Given the description of an element on the screen output the (x, y) to click on. 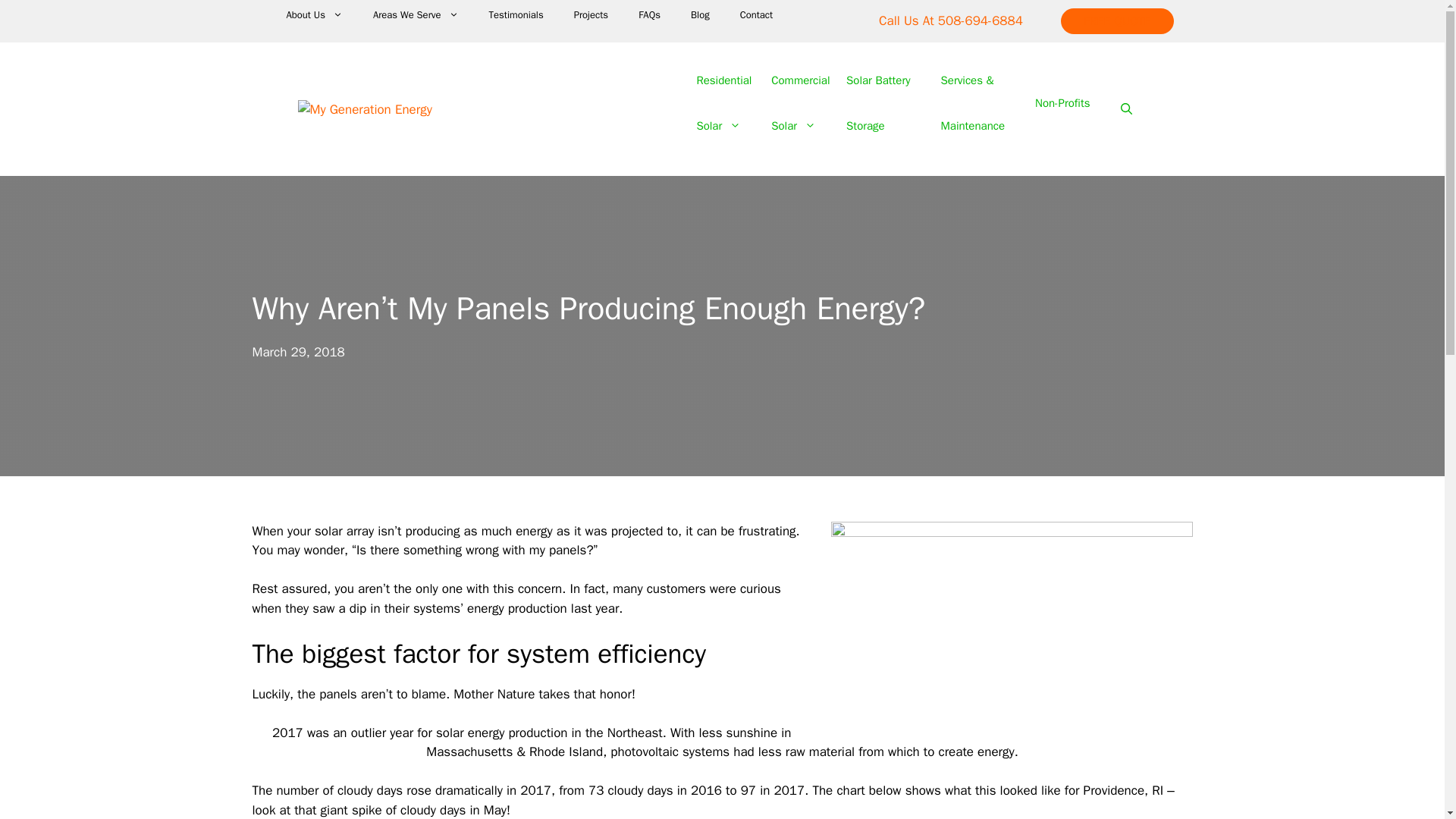
Blog (700, 15)
FAQs (649, 15)
Non-Profits (1062, 103)
Areas We Serve (416, 15)
Projects (591, 15)
508-694-6884 (980, 20)
About Us (877, 102)
FREE QUOTE (314, 15)
Contact (1117, 21)
